Given the description of an element on the screen output the (x, y) to click on. 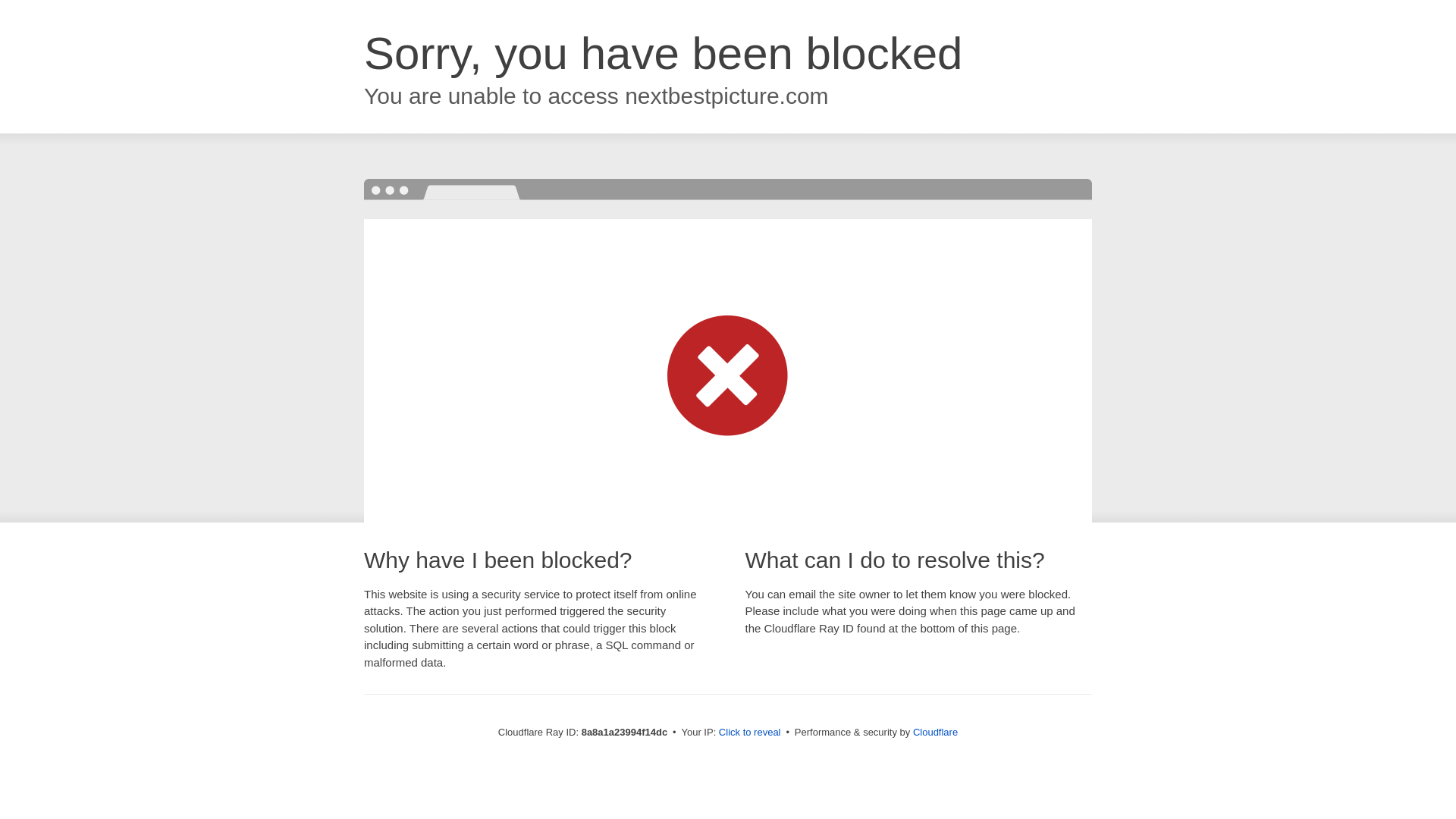
Cloudflare (935, 731)
Click to reveal (749, 732)
